Given the description of an element on the screen output the (x, y) to click on. 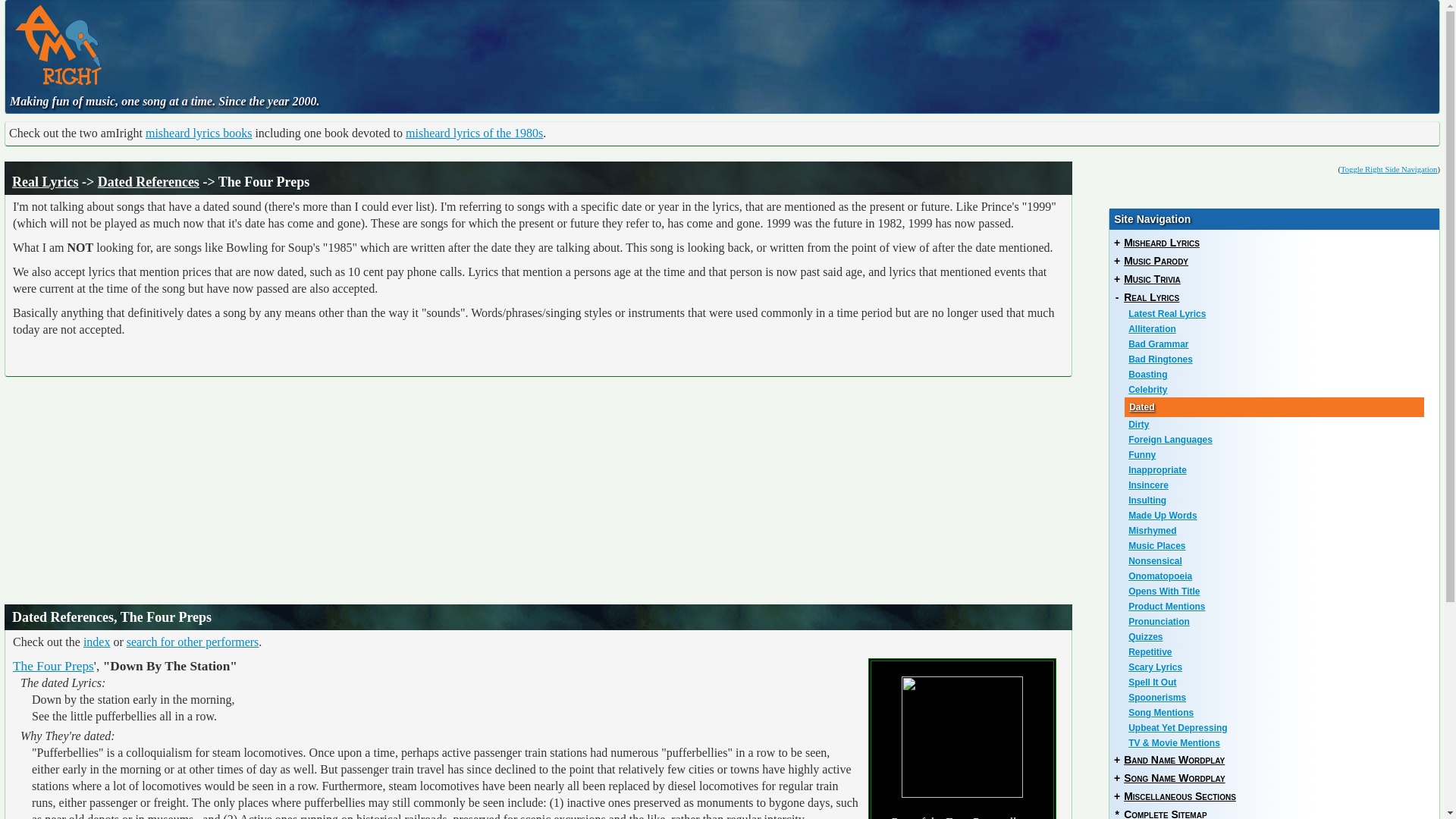
Misheard Lyrics (1161, 242)
Music Places (1275, 545)
Boasting (1275, 374)
Onomatopoeia (1275, 575)
Latest Real Lyrics (1275, 313)
Music Parody (1156, 260)
Nonsensical (1275, 560)
Bad Grammar (1275, 344)
Pronunciation (1275, 621)
Music Trivia (1152, 278)
misheard lyrics of the 1980s (474, 132)
Scary Lyrics (1275, 667)
Real Lyrics (44, 181)
Alliteration (1275, 328)
Misrhymed (1275, 530)
